Given the description of an element on the screen output the (x, y) to click on. 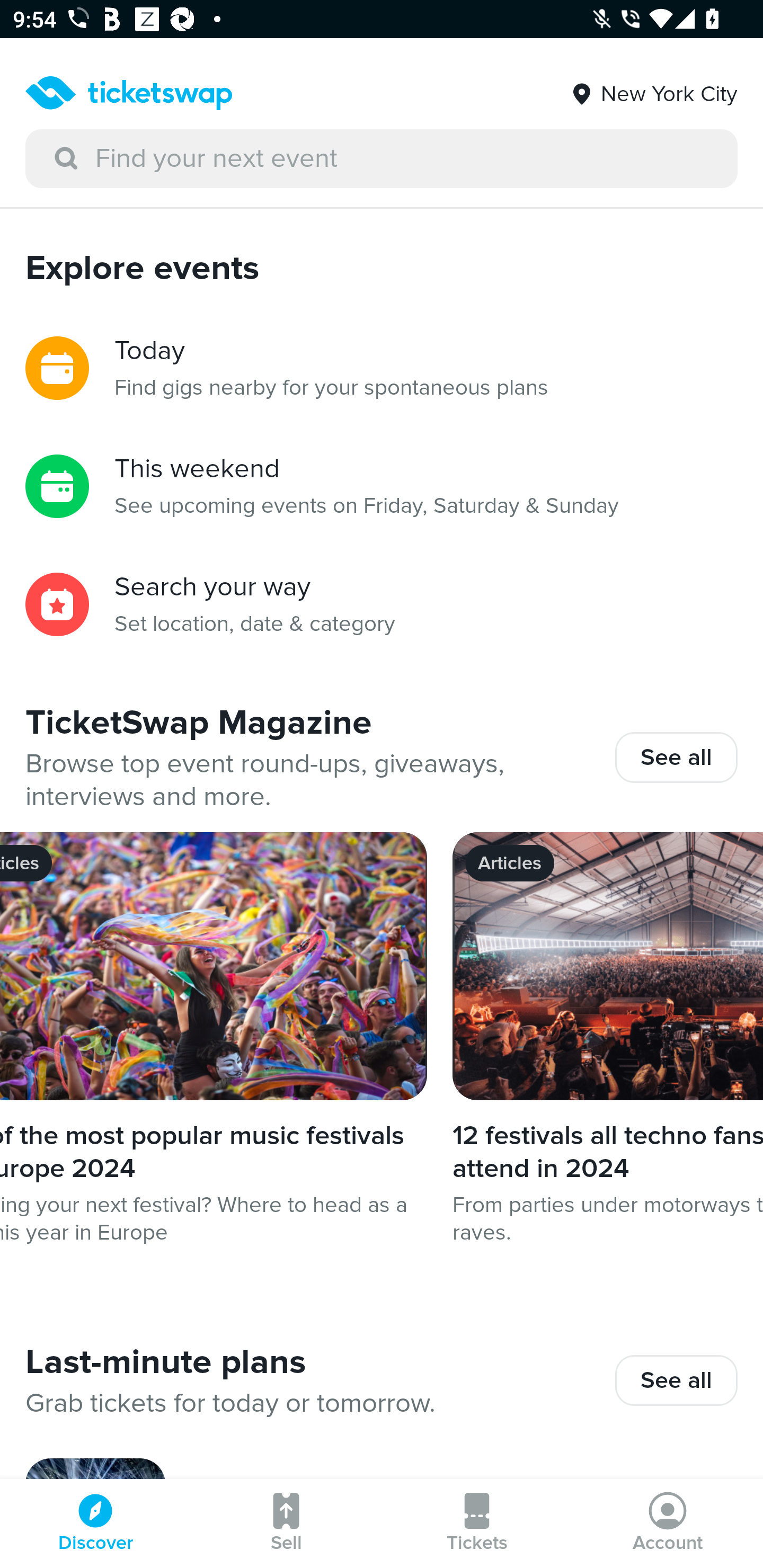
New York City (653, 87)
Find your next event (381, 158)
Today Find gigs nearby for your spontaneous plans (381, 367)
Search your way Set location, date & category (381, 604)
See all (675, 756)
See all (675, 1380)
Sell (285, 1523)
Tickets (476, 1523)
Account (667, 1523)
